Given the description of an element on the screen output the (x, y) to click on. 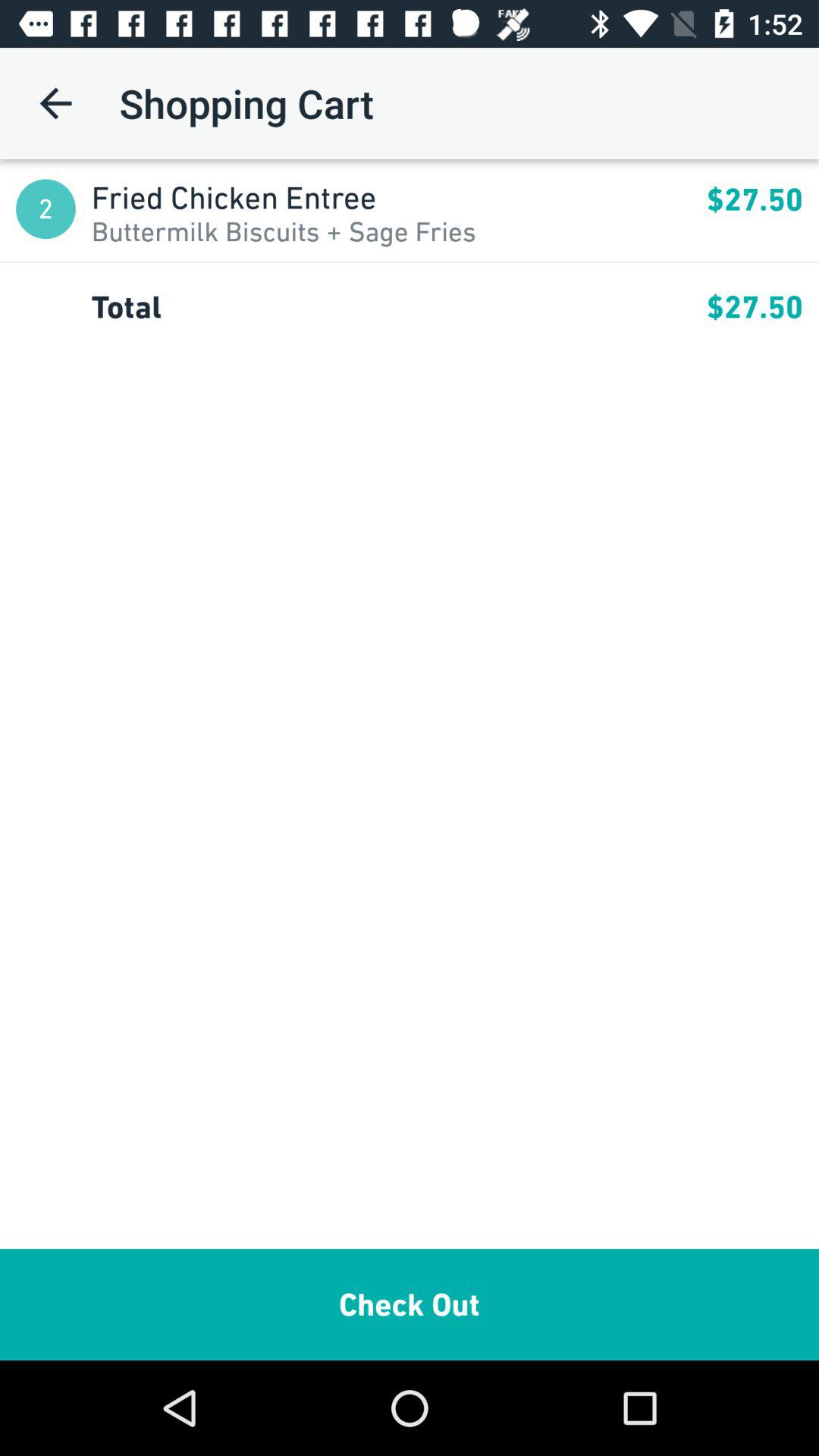
press item above 2 item (55, 103)
